Given the description of an element on the screen output the (x, y) to click on. 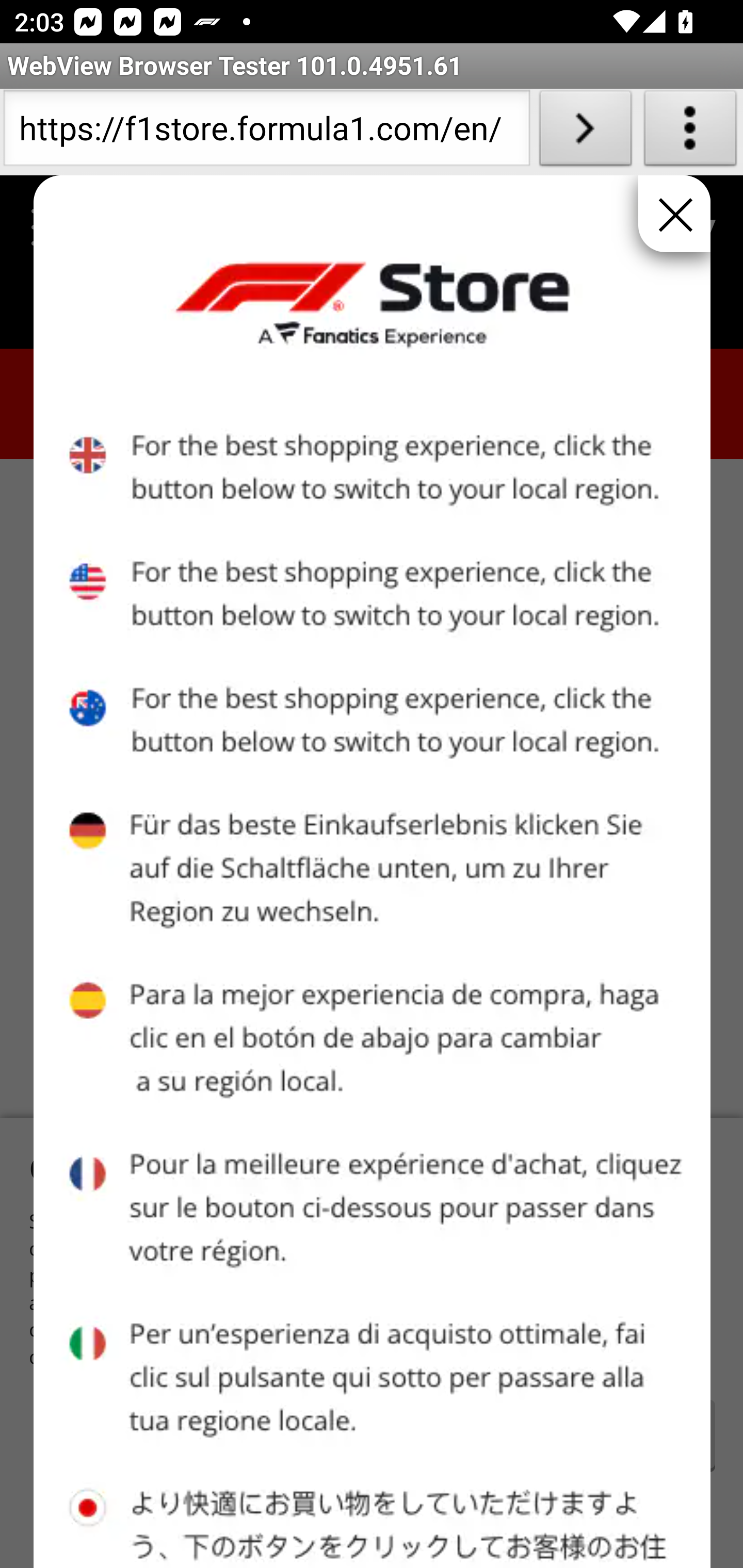
https://f1store.formula1.com/en/ (266, 132)
Load URL (585, 132)
About WebView (690, 132)
Close Pop-Up (674, 213)
